Given the description of an element on the screen output the (x, y) to click on. 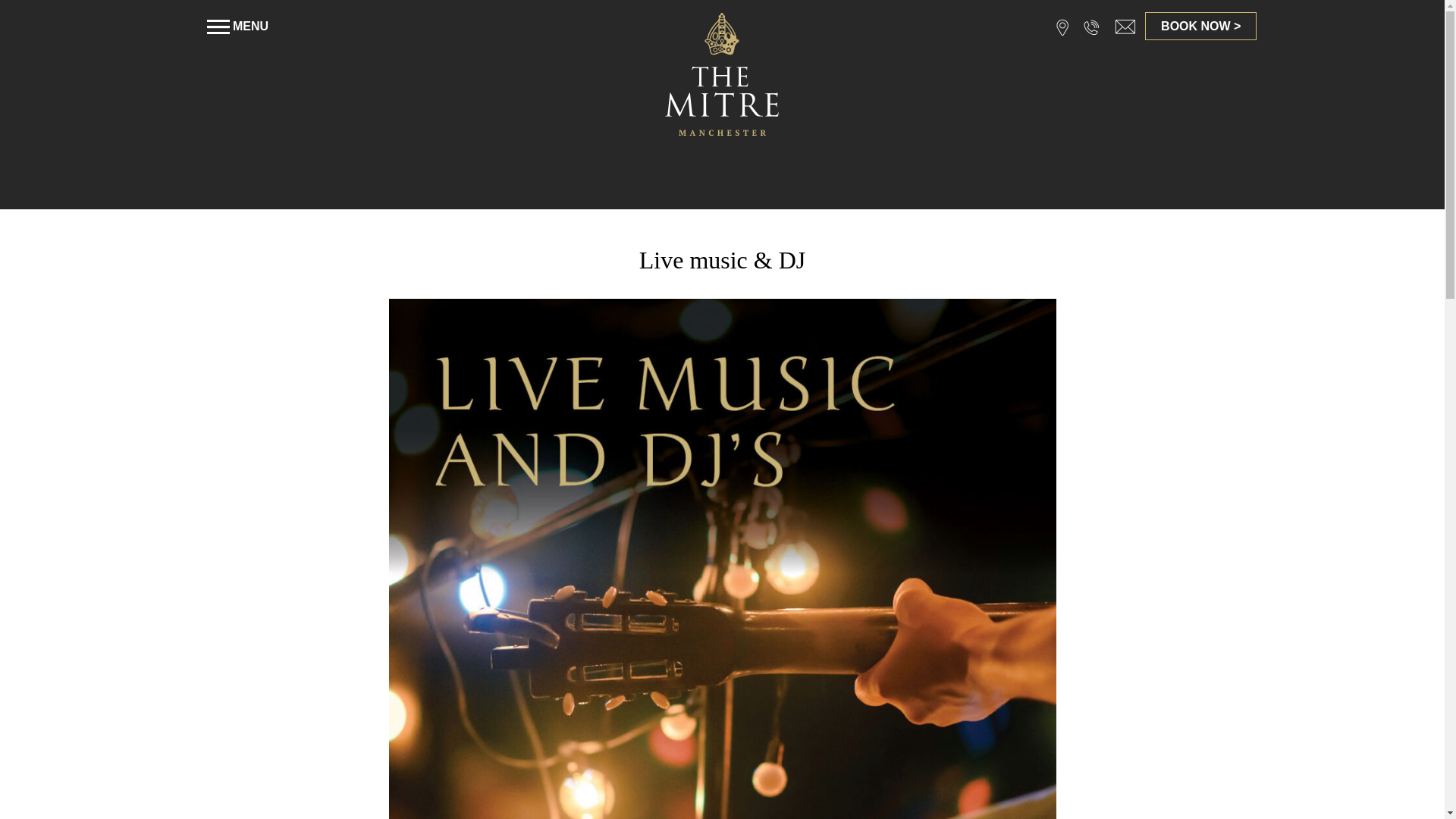
The Mitre Hotel Manchester (721, 72)
MENU (236, 26)
